Given the description of an element on the screen output the (x, y) to click on. 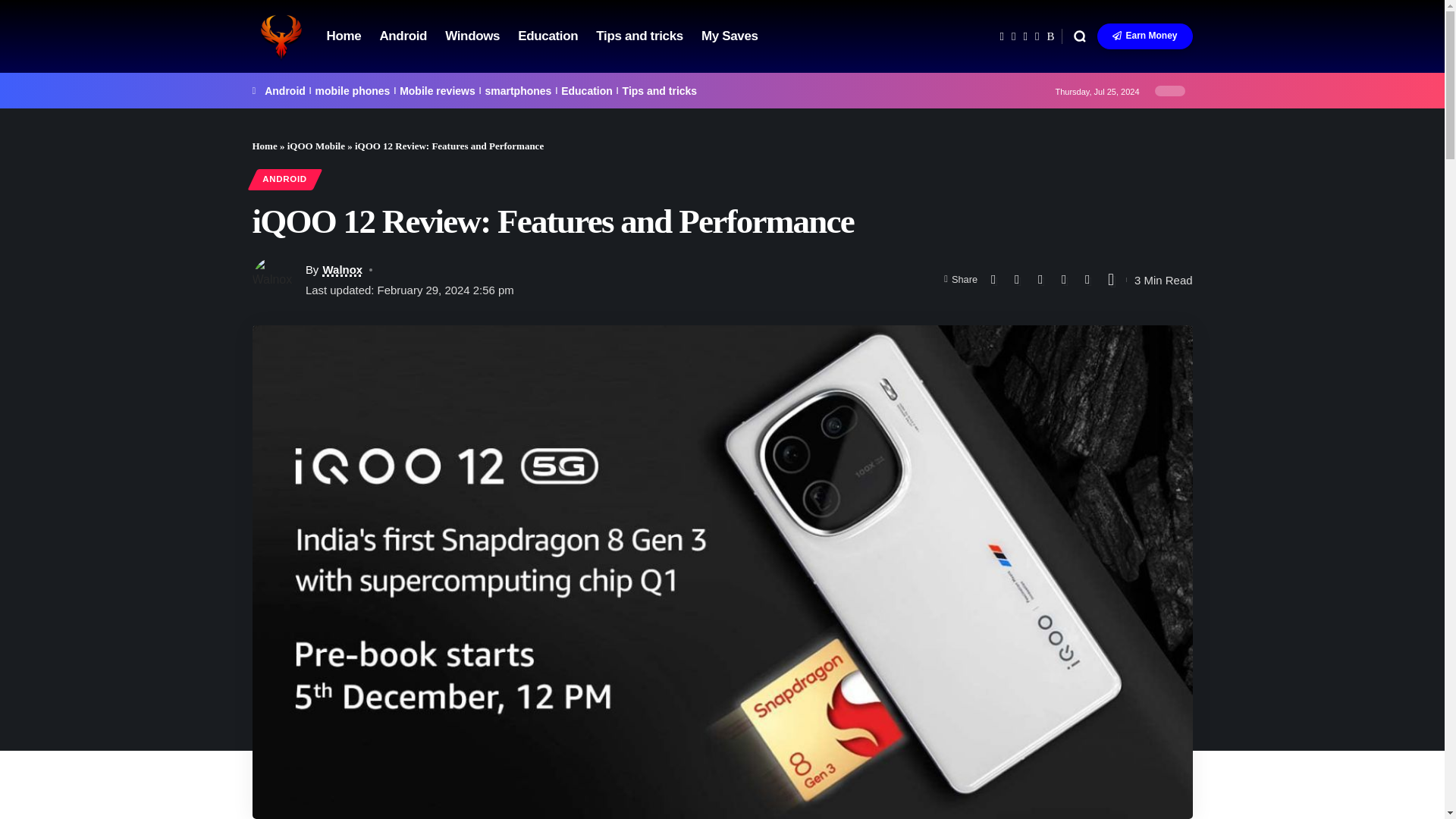
Mobile reviews (437, 90)
Android (284, 90)
Tips and tricks (660, 90)
Android (402, 35)
My Saves (730, 35)
Education (586, 90)
Education (547, 35)
smartphones (517, 90)
Earn Money (1144, 36)
Windows (471, 35)
Home (343, 35)
mobile phones (352, 90)
Tips and tricks (639, 35)
